Given the description of an element on the screen output the (x, y) to click on. 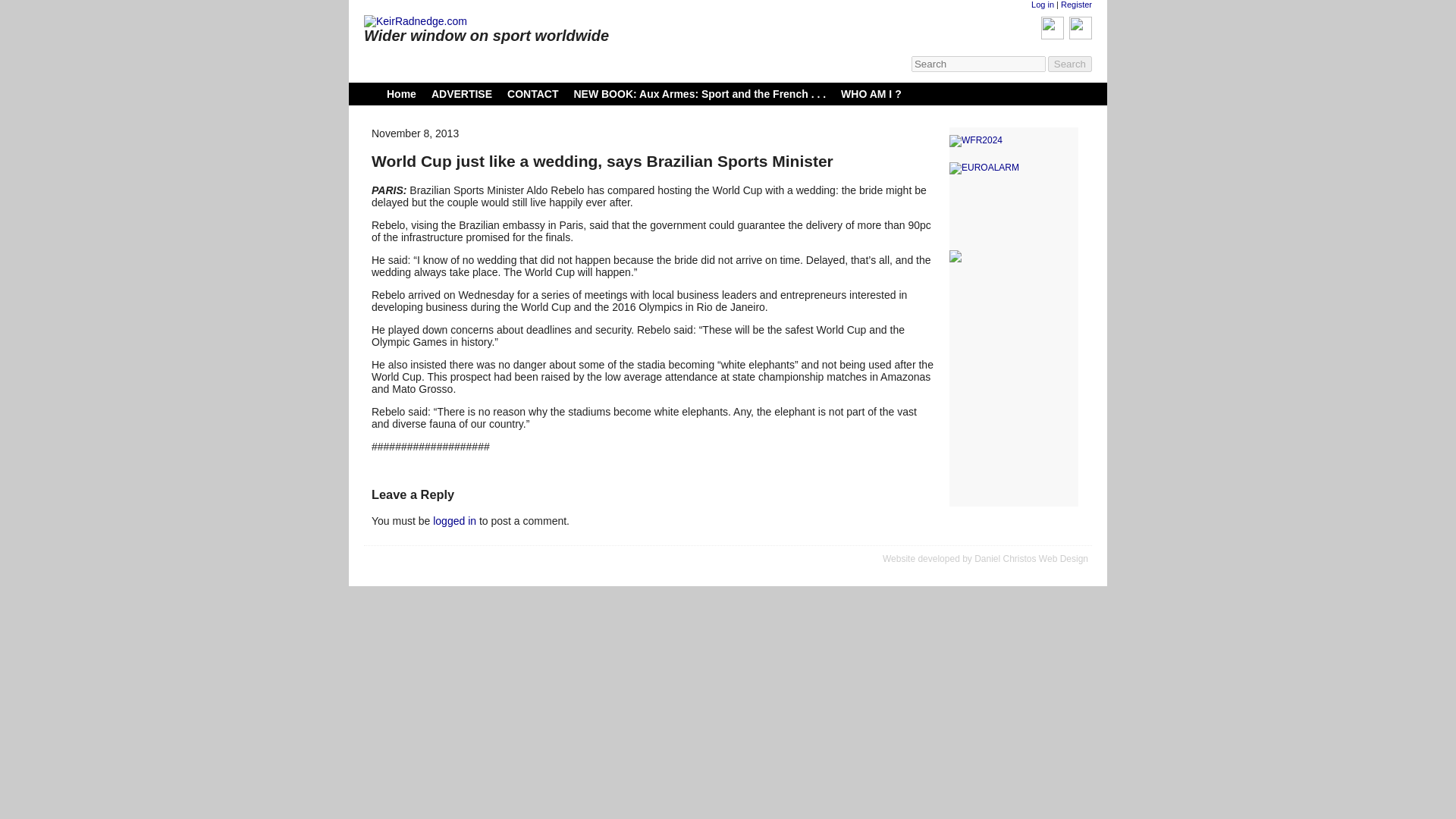
NEW BOOK: Aux Armes: Sport and the French . . . (699, 93)
Search (1070, 64)
Daniel Christos Web Design (1030, 558)
WHO AM I ? (871, 93)
WFR2024 (1013, 141)
Search (1070, 64)
logged in (454, 521)
Home (401, 93)
Register (1076, 4)
ADVERTISE (461, 93)
